Given the description of an element on the screen output the (x, y) to click on. 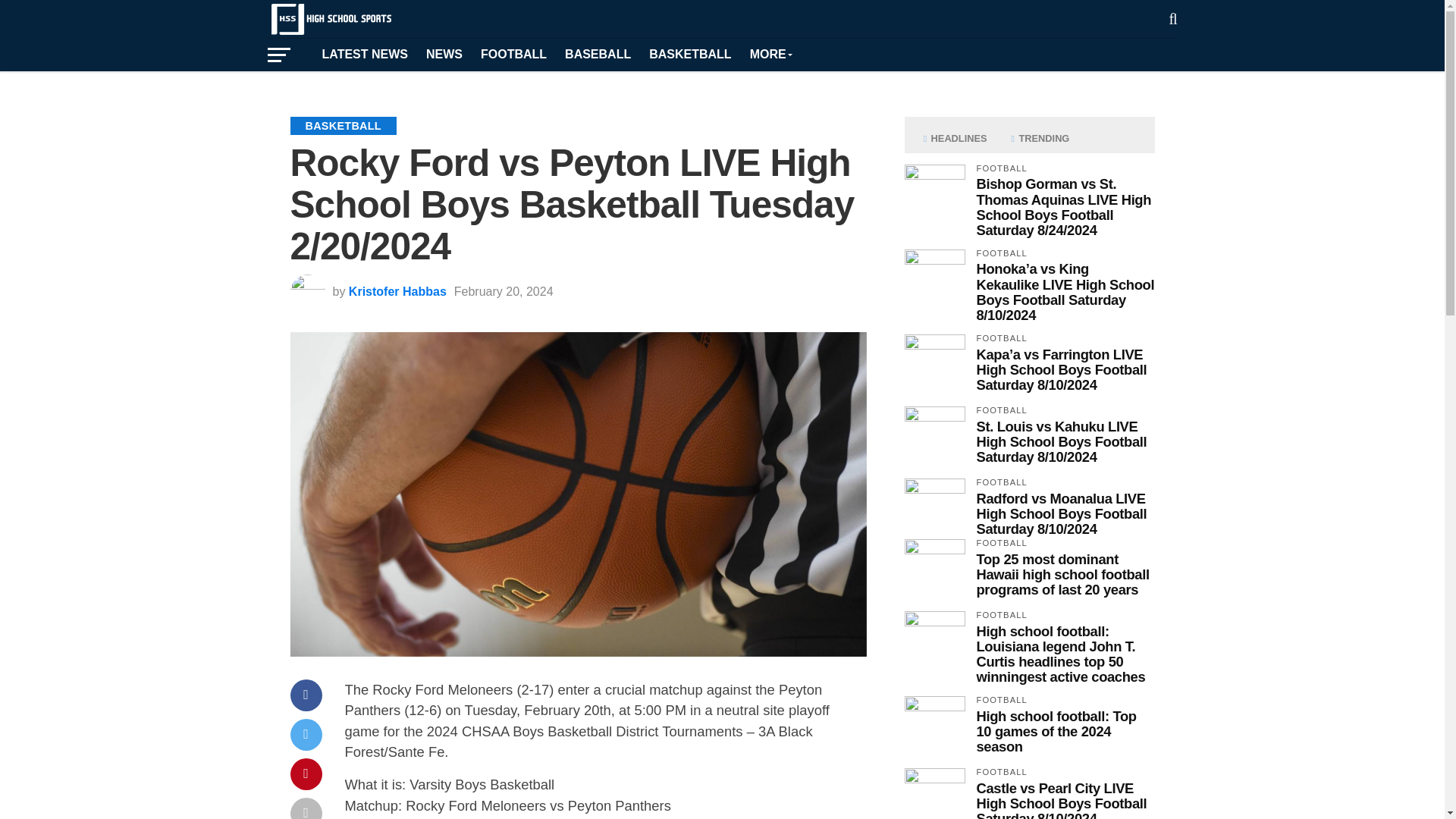
HEADLINES (954, 138)
MORE (770, 54)
BASKETBALL (689, 54)
Kristofer Habbas (397, 291)
FOOTBALL (513, 54)
NEWS (443, 54)
Posts by Kristofer Habbas (397, 291)
POPULAR SPORTS (770, 54)
BASEBALL (598, 54)
LATEST NEWS (364, 54)
